Given the description of an element on the screen output the (x, y) to click on. 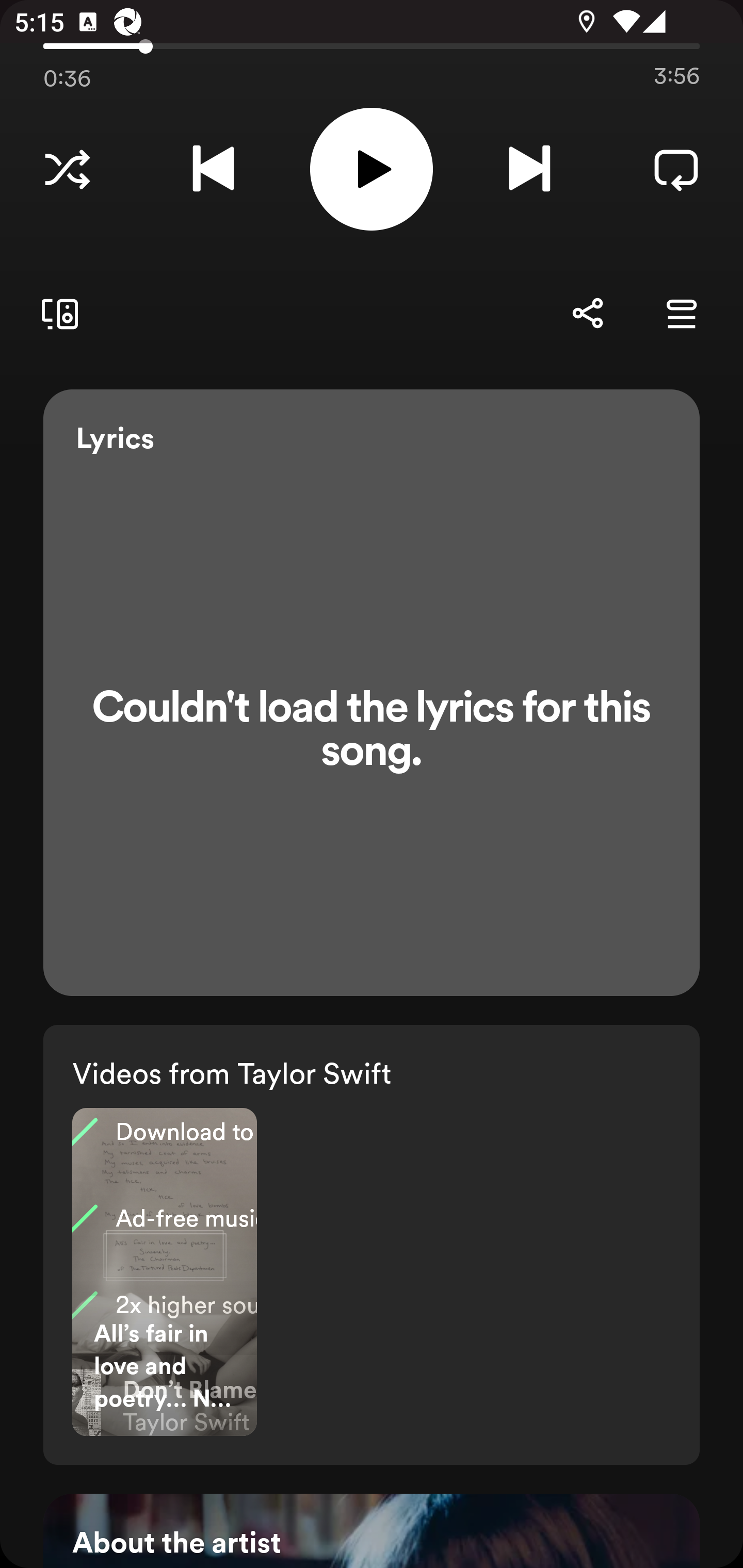
36741.0 Use volume keys to adjust (371, 42)
Play (371, 169)
Previous (212, 168)
Next (529, 168)
Choose a Listening Mode (66, 168)
Repeat (676, 168)
Share (587, 313)
Go to Queue (681, 313)
Connect to a device. Opens the devices menu (55, 313)
